Given the description of an element on the screen output the (x, y) to click on. 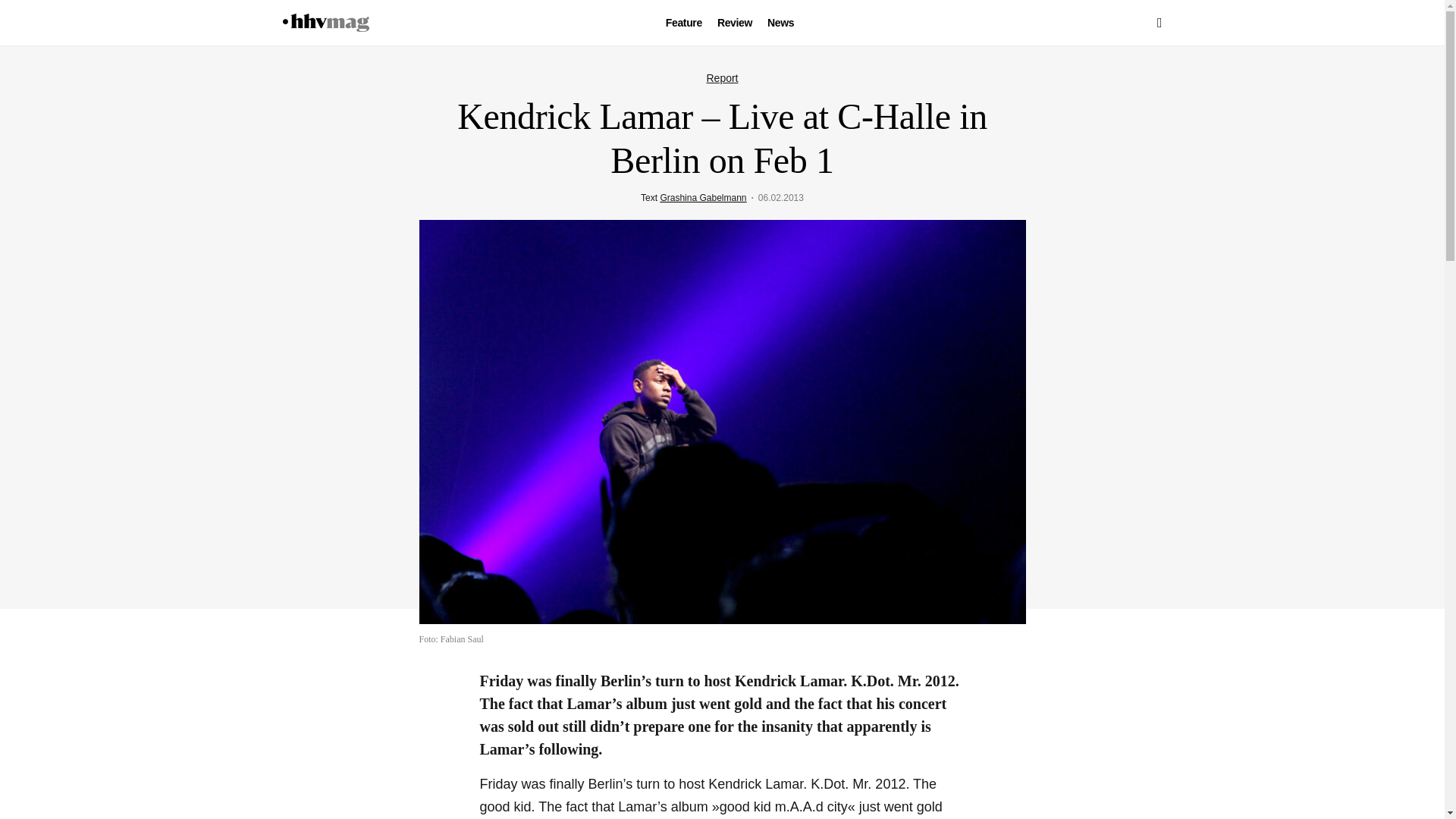
Feature (683, 22)
Grashina Gabelmann (702, 197)
Report (722, 78)
View all posts by Grashina Gabelmann (702, 197)
Review (734, 22)
News (780, 22)
